Given the description of an element on the screen output the (x, y) to click on. 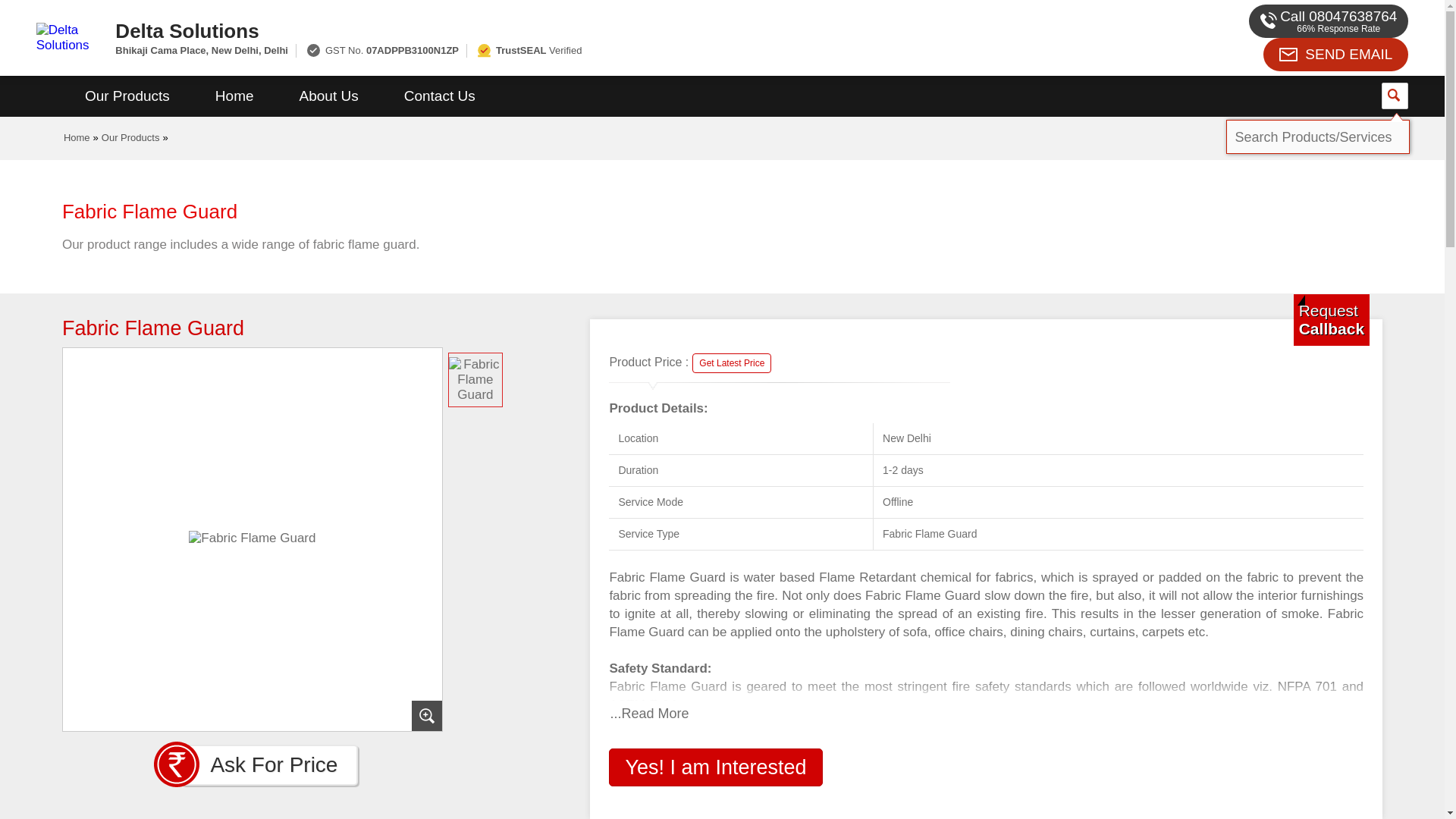
About Us (328, 96)
Our Products (127, 96)
Get a Call from us (1332, 319)
Delta Solutions (552, 31)
Home (234, 96)
